Given the description of an element on the screen output the (x, y) to click on. 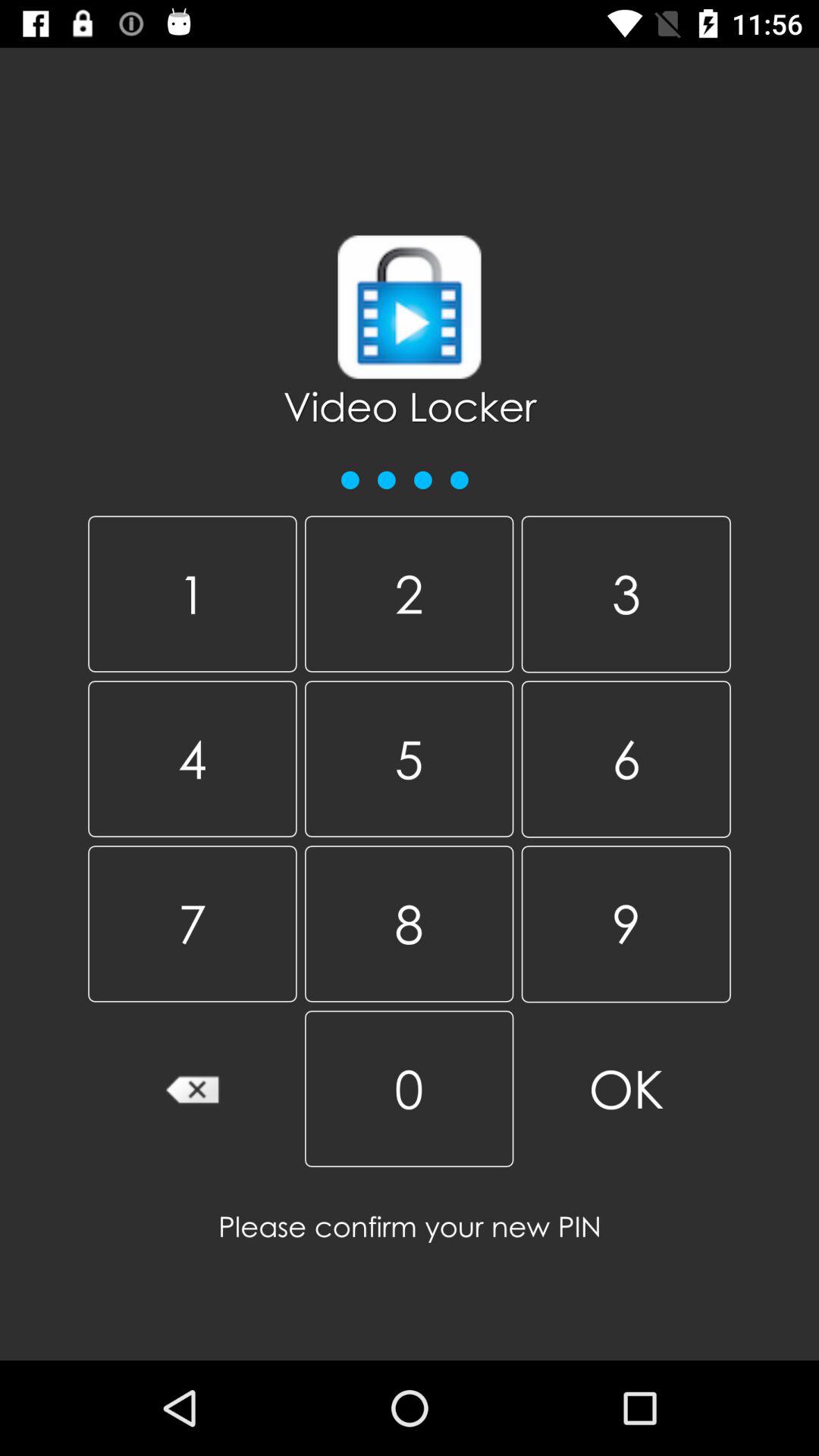
select item at the bottom left corner (192, 1088)
